Given the description of an element on the screen output the (x, y) to click on. 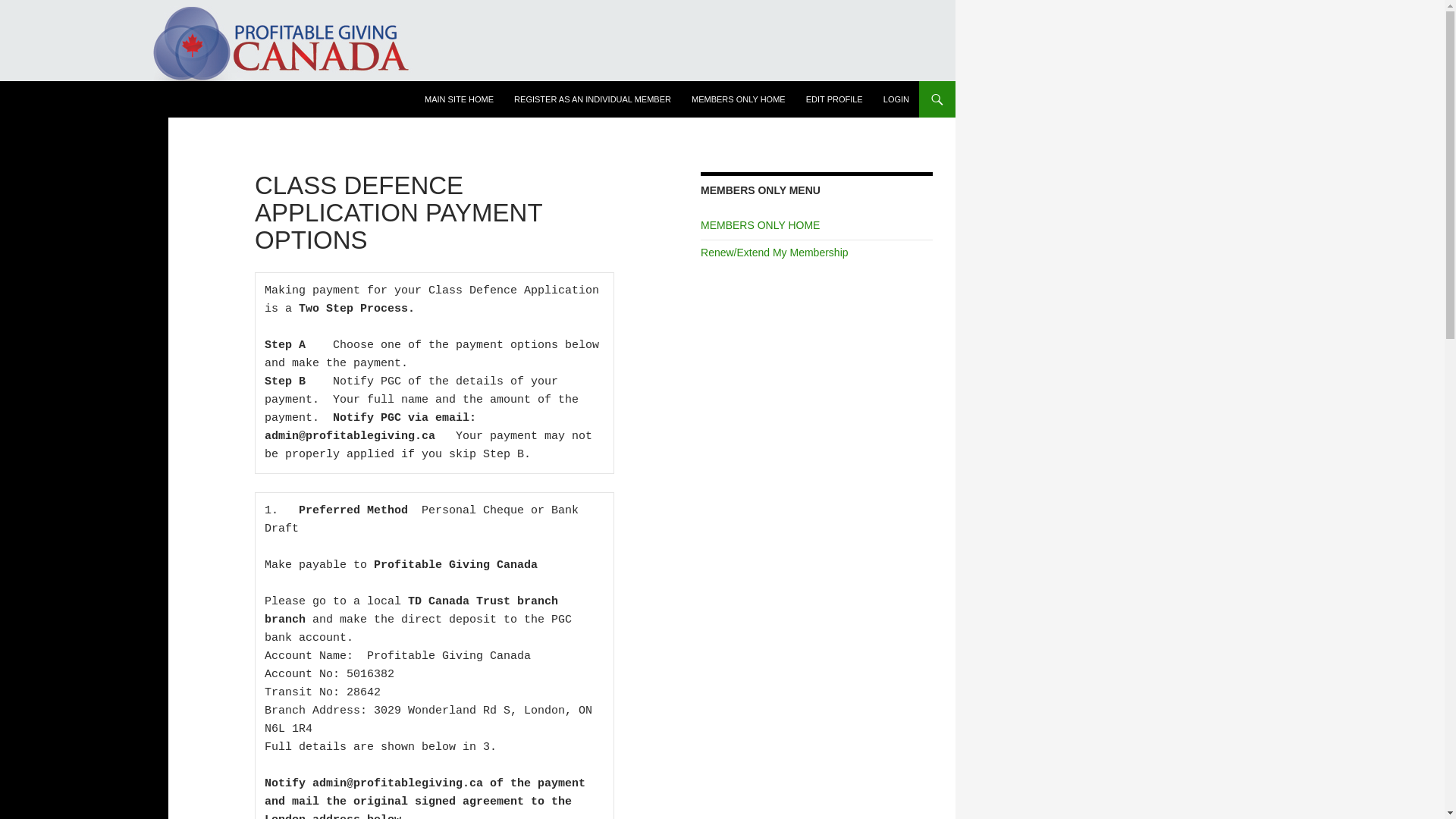
MEMBERS ONLY HOME (759, 224)
EDIT PROFILE (834, 99)
MEMBERS ONLY HOME (738, 99)
REGISTER AS AN INDIVIDUAL MEMBER (592, 99)
MAIN SITE HOME (458, 99)
Profitable Giving Canada (103, 99)
LOGIN (896, 99)
Login (896, 99)
